Given the description of an element on the screen output the (x, y) to click on. 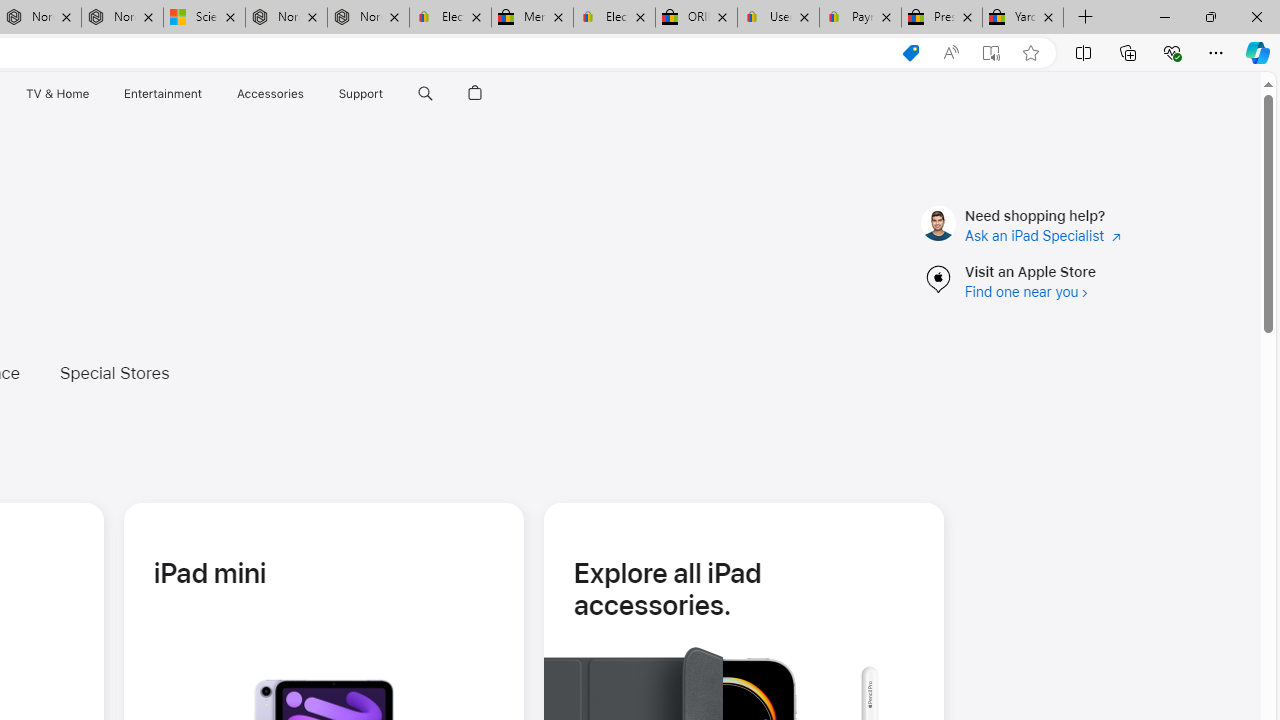
Entertainment (162, 93)
AutomationID: globalnav-bag (475, 93)
TV & Home (56, 93)
User Privacy Notice | eBay (778, 17)
Press Room - eBay Inc. (941, 17)
Support menu (387, 93)
